Given the description of an element on the screen output the (x, y) to click on. 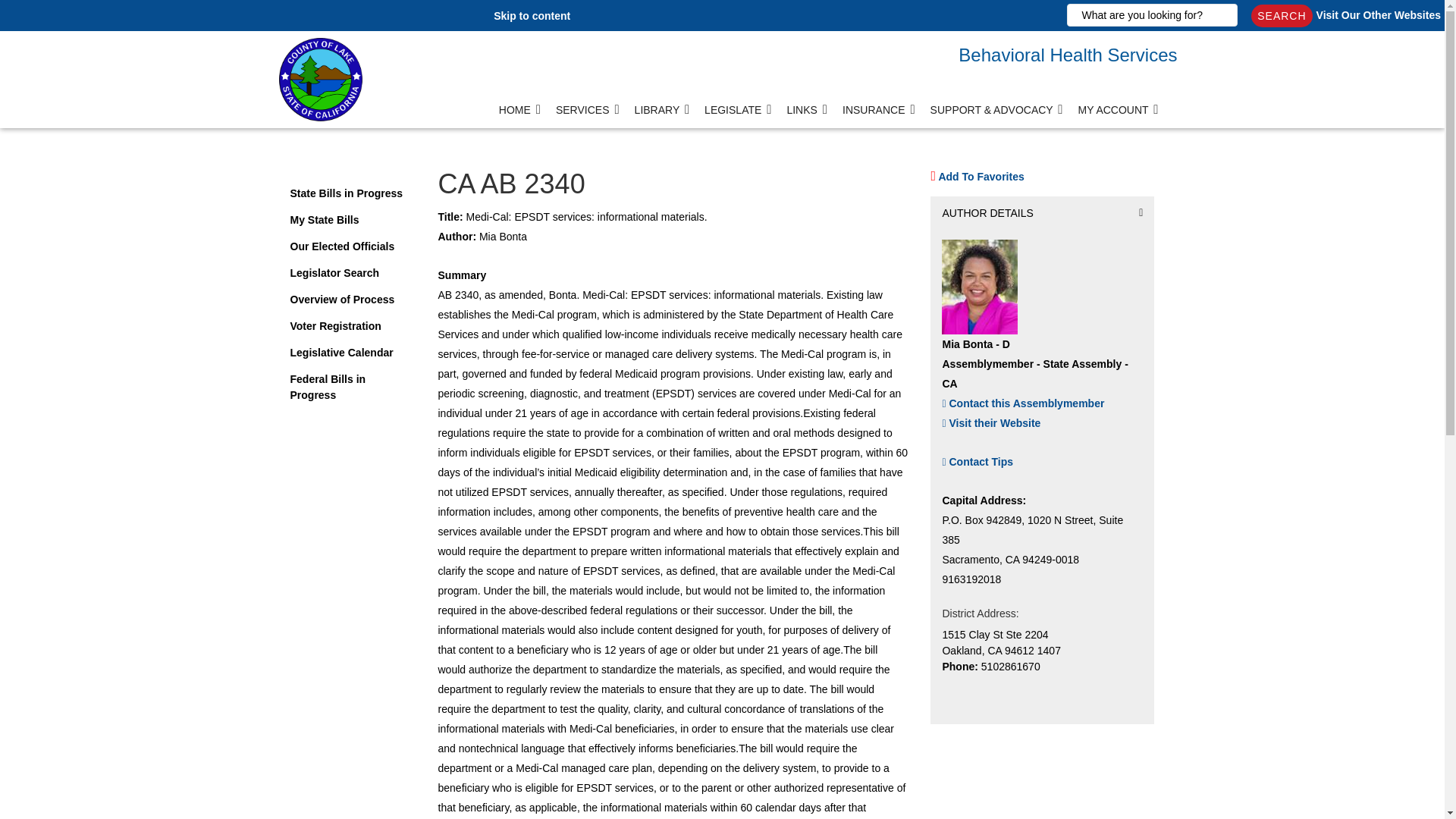
HOME (520, 115)
LIBRARY (662, 115)
LEGISLATE (737, 115)
Visit Our Other Websites (1378, 15)
SERVICES (587, 115)
SEARCH (1280, 15)
Skip to content (531, 15)
